Given the description of an element on the screen output the (x, y) to click on. 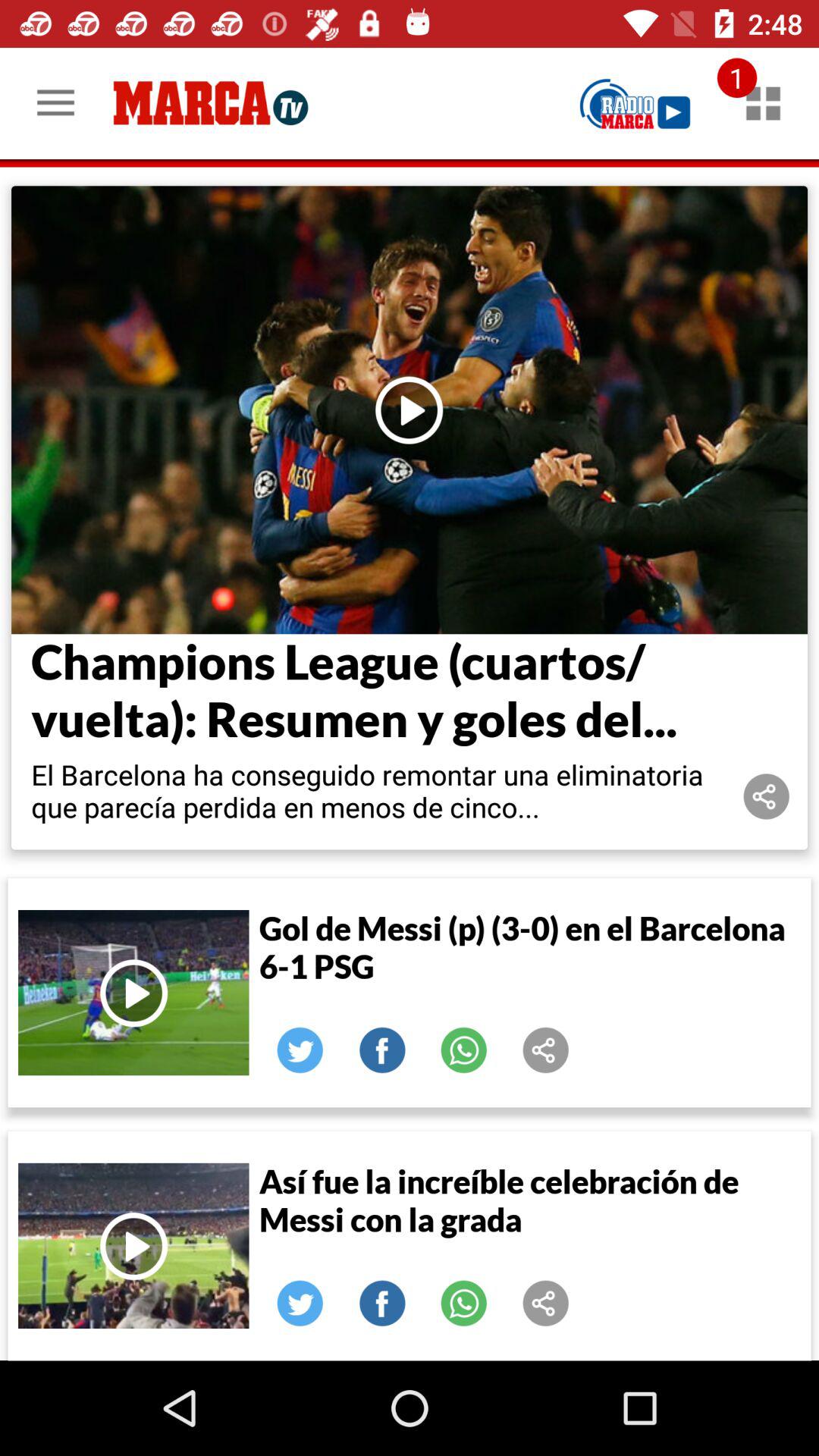
load selected article (409, 409)
